Given the description of an element on the screen output the (x, y) to click on. 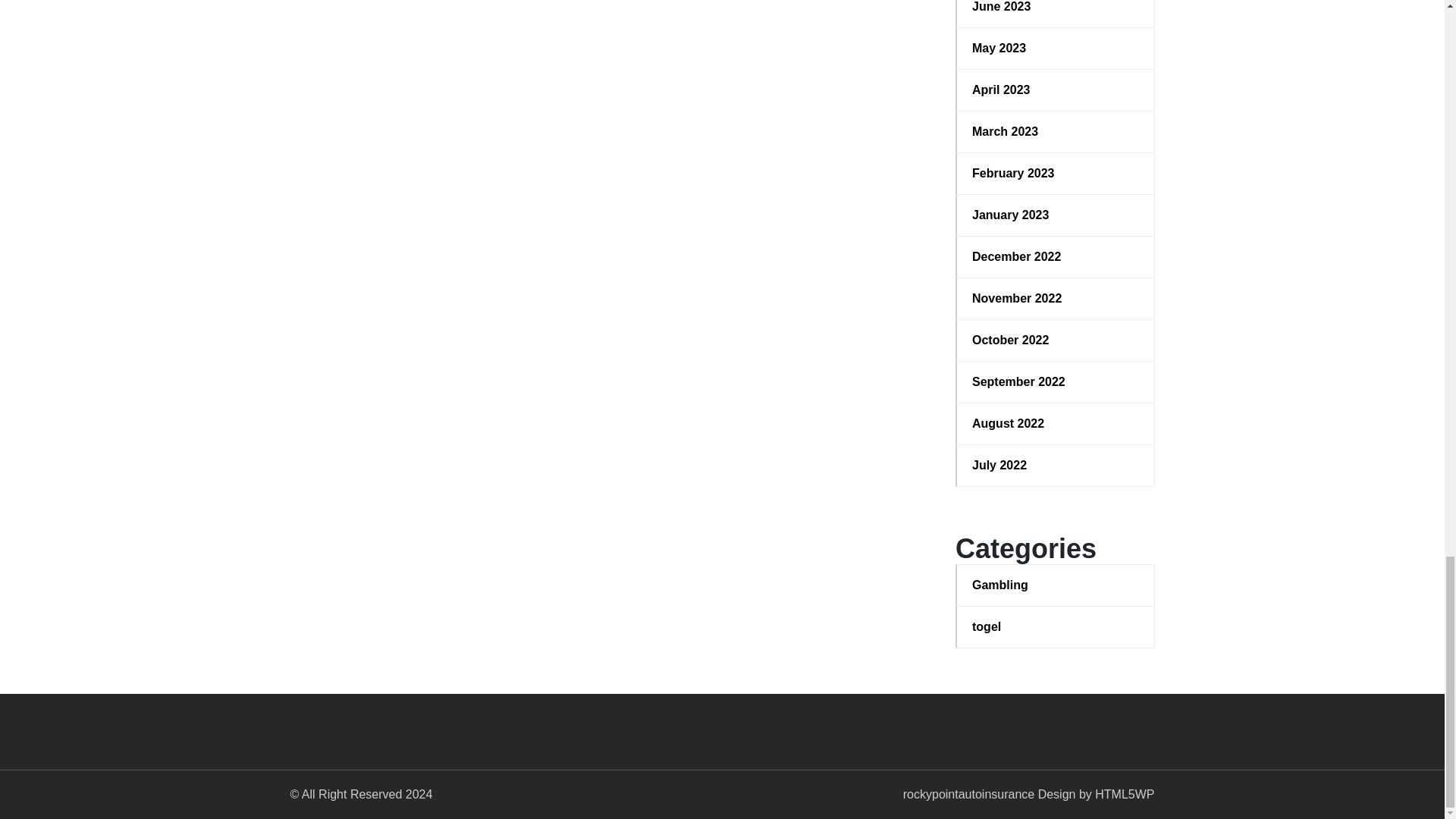
June 2023 (1055, 7)
February 2023 (1055, 173)
May 2023 (1055, 48)
March 2023 (1055, 131)
April 2023 (1055, 90)
November 2022 (1055, 298)
January 2023 (1055, 215)
December 2022 (1055, 257)
